Given the description of an element on the screen output the (x, y) to click on. 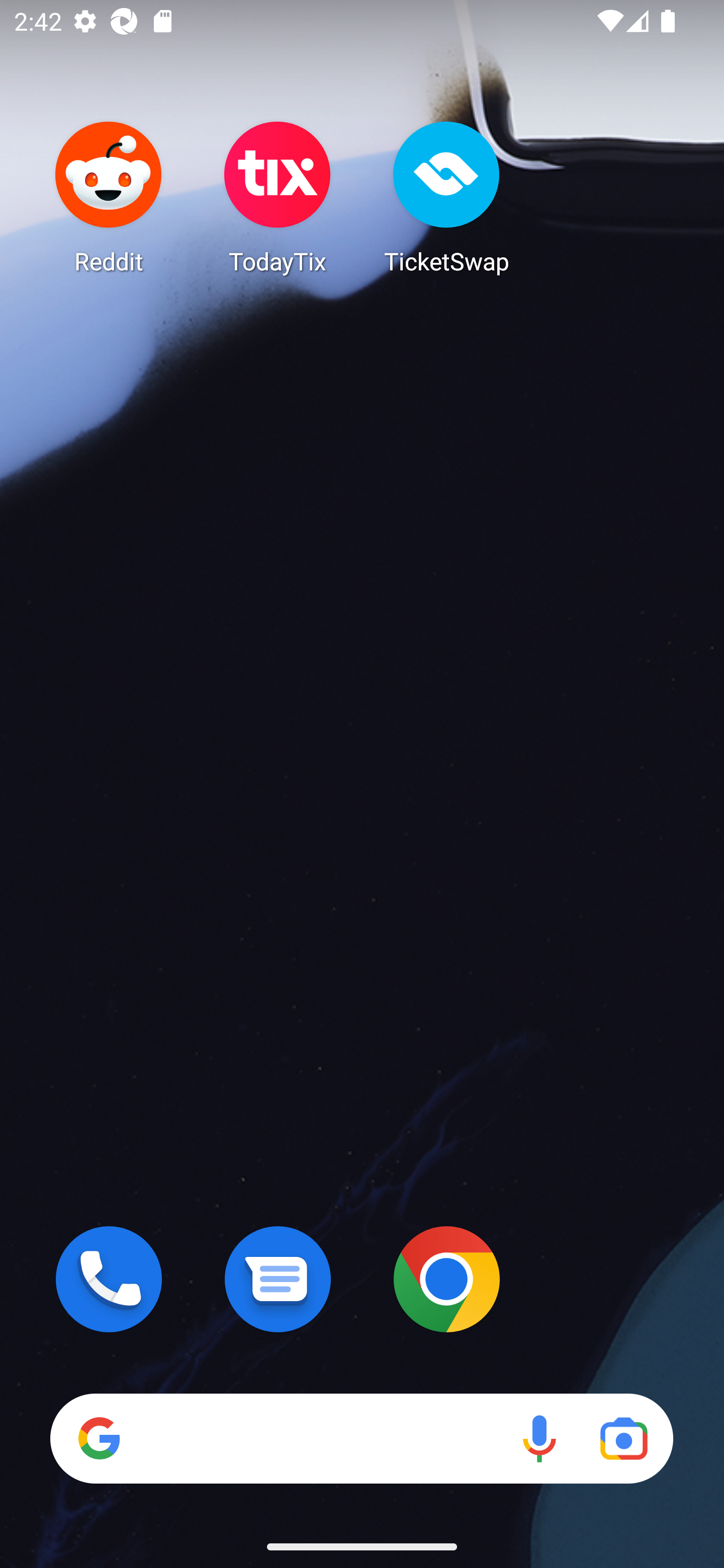
Reddit (108, 196)
TodayTix (277, 196)
TicketSwap (445, 196)
Phone (108, 1279)
Messages (277, 1279)
Chrome (446, 1279)
Voice search (539, 1438)
Google Lens (623, 1438)
